Given the description of an element on the screen output the (x, y) to click on. 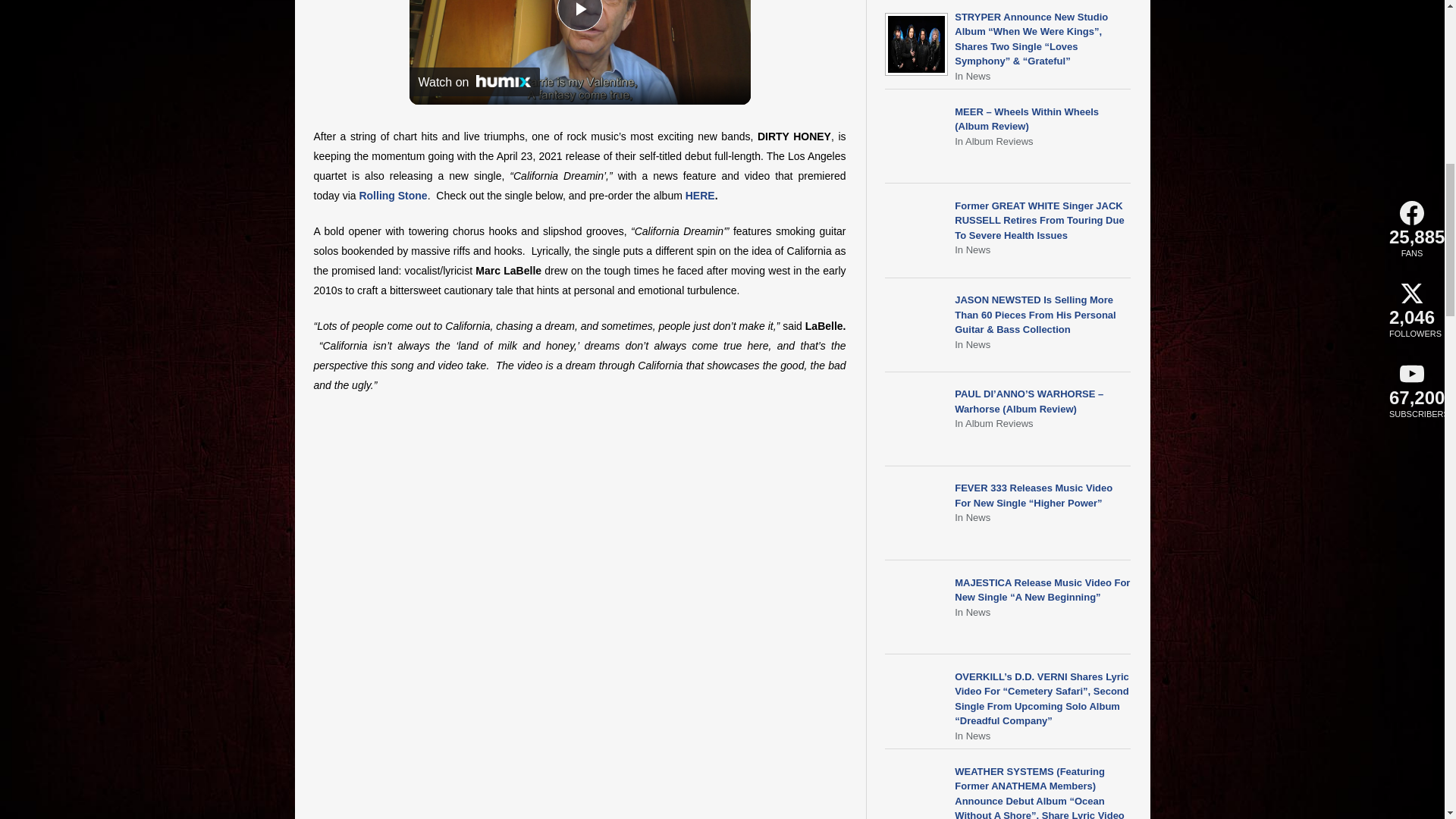
Play Video (579, 15)
Play Video (579, 15)
